Given the description of an element on the screen output the (x, y) to click on. 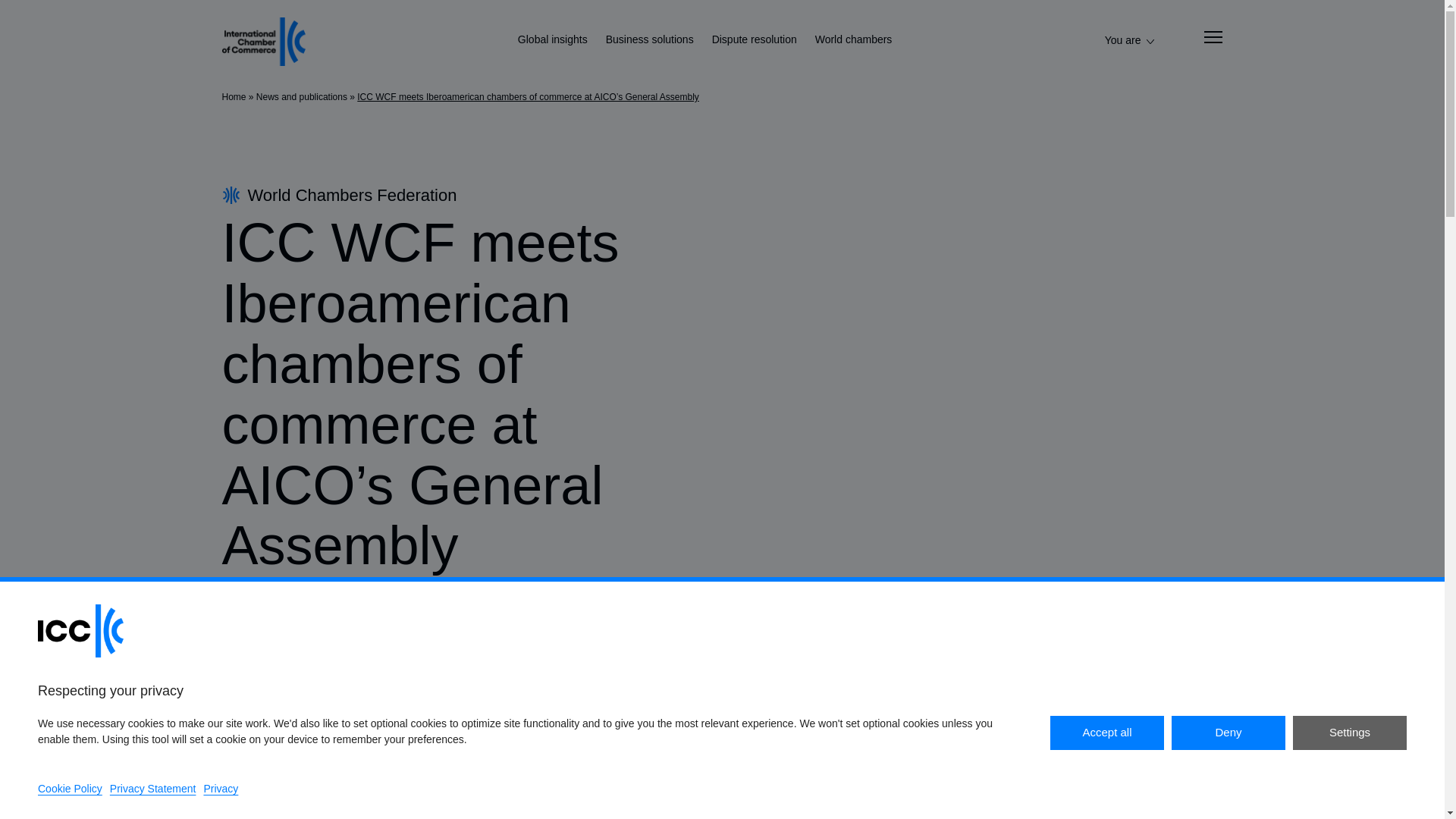
Global insights (553, 40)
Deny (1228, 732)
Cookie Policy (69, 788)
ICC - International Chamber of Commerce (262, 41)
Privacy (220, 788)
Settings (1349, 732)
Accept all (1106, 732)
Privacy Statement (153, 788)
